Given the description of an element on the screen output the (x, y) to click on. 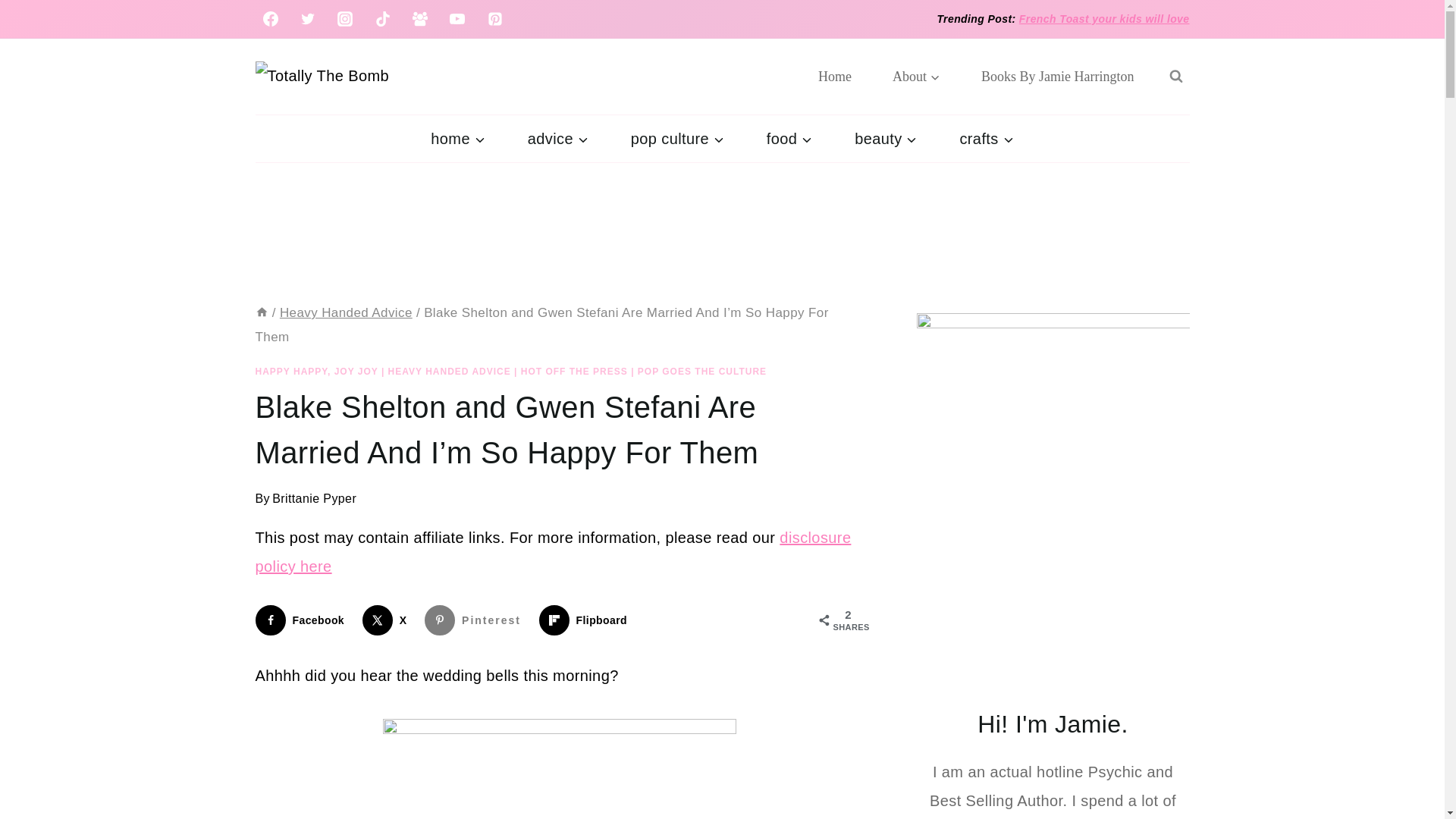
About (916, 76)
Share on Flipboard (585, 620)
Home (834, 76)
pop culture (677, 138)
Home (260, 312)
Save to Pinterest (476, 620)
advice (558, 138)
Books By Jamie Harrington (1057, 76)
home (457, 138)
French Toast your kids will love (1104, 19)
